Given the description of an element on the screen output the (x, y) to click on. 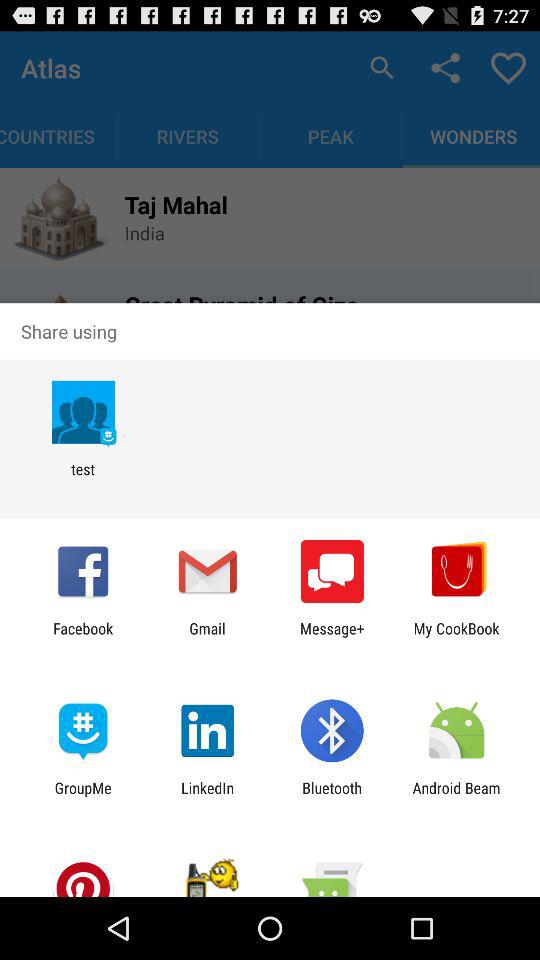
select the item to the right of the facebook item (207, 637)
